Given the description of an element on the screen output the (x, y) to click on. 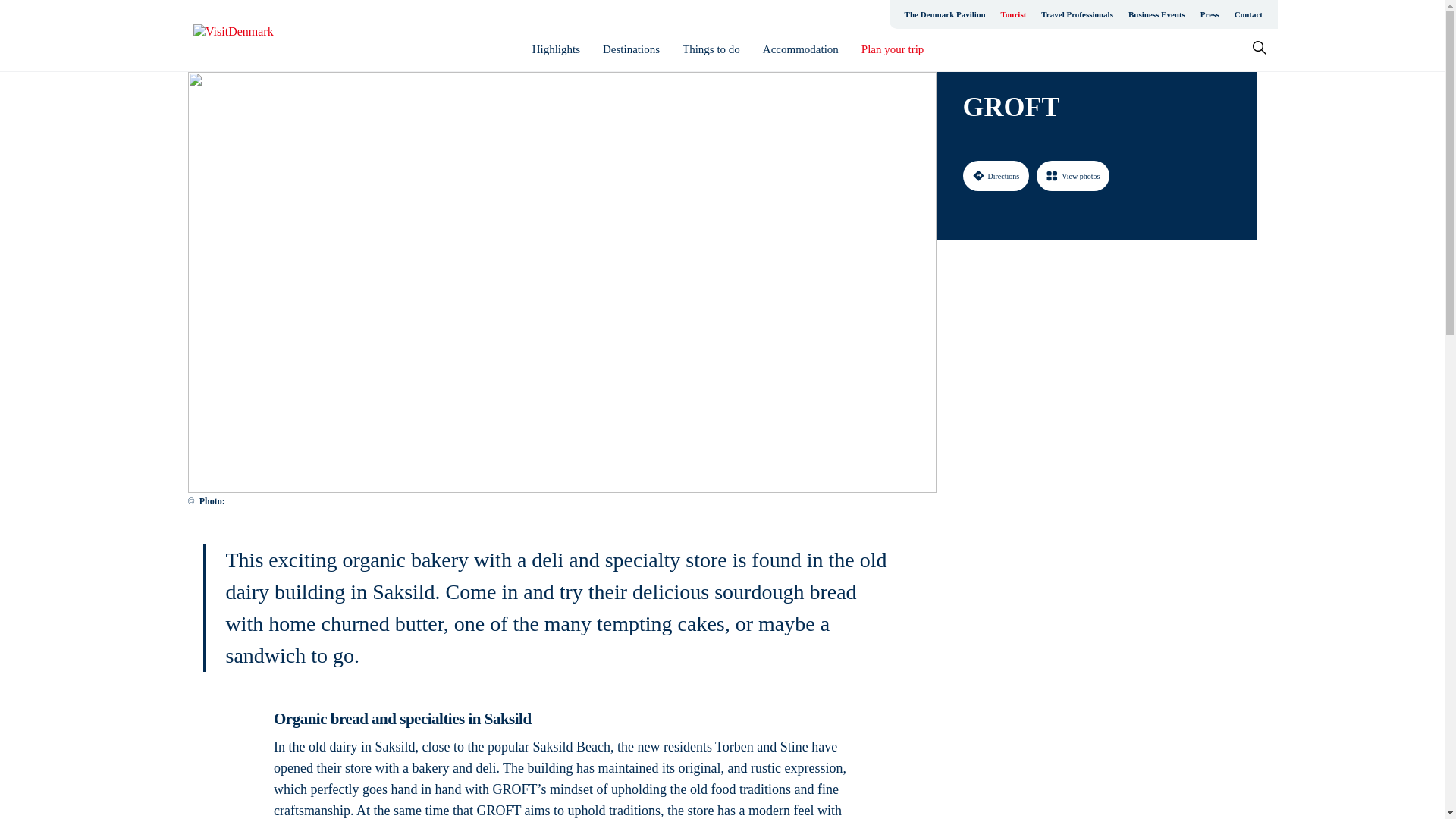
Tourist (1012, 14)
Travel Professionals (1077, 14)
The Denmark Pavilion (944, 14)
Things to do (710, 49)
Business Events (1156, 14)
Destinations (630, 49)
Press (1209, 14)
Directions (995, 175)
Highlights (555, 49)
Contact (1248, 14)
